Given the description of an element on the screen output the (x, y) to click on. 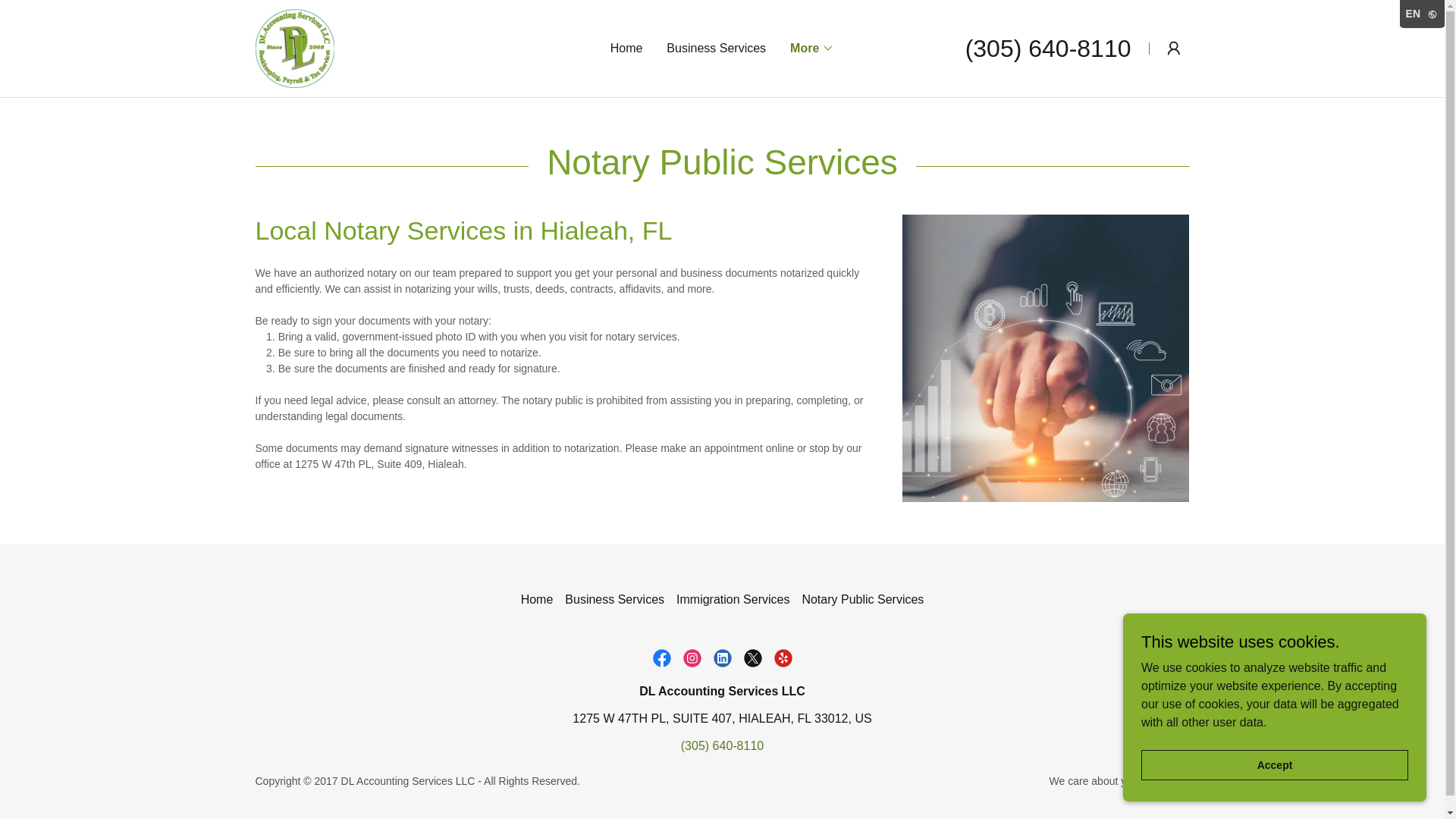
Home (626, 48)
Immigration Services (731, 599)
Business Services (716, 48)
Business Services (614, 599)
More (812, 48)
Home (537, 599)
DL Accounting Services LLC (293, 47)
